Given the description of an element on the screen output the (x, y) to click on. 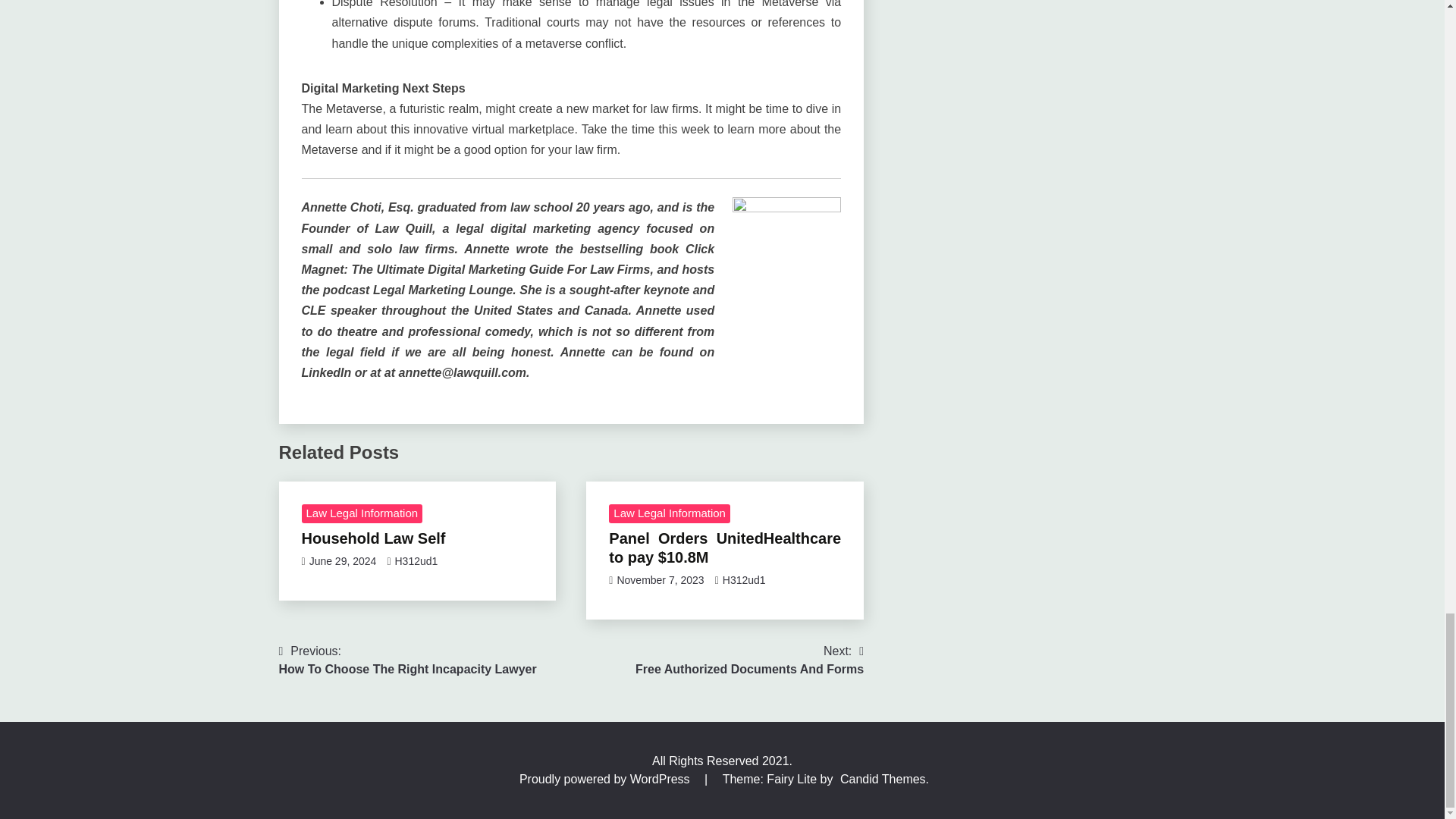
H312ud1 (416, 561)
November 7, 2023 (408, 660)
June 29, 2024 (659, 580)
H312ud1 (342, 561)
Law Legal Information (743, 580)
Household Law Self (669, 514)
Law Legal Information (748, 660)
